Given the description of an element on the screen output the (x, y) to click on. 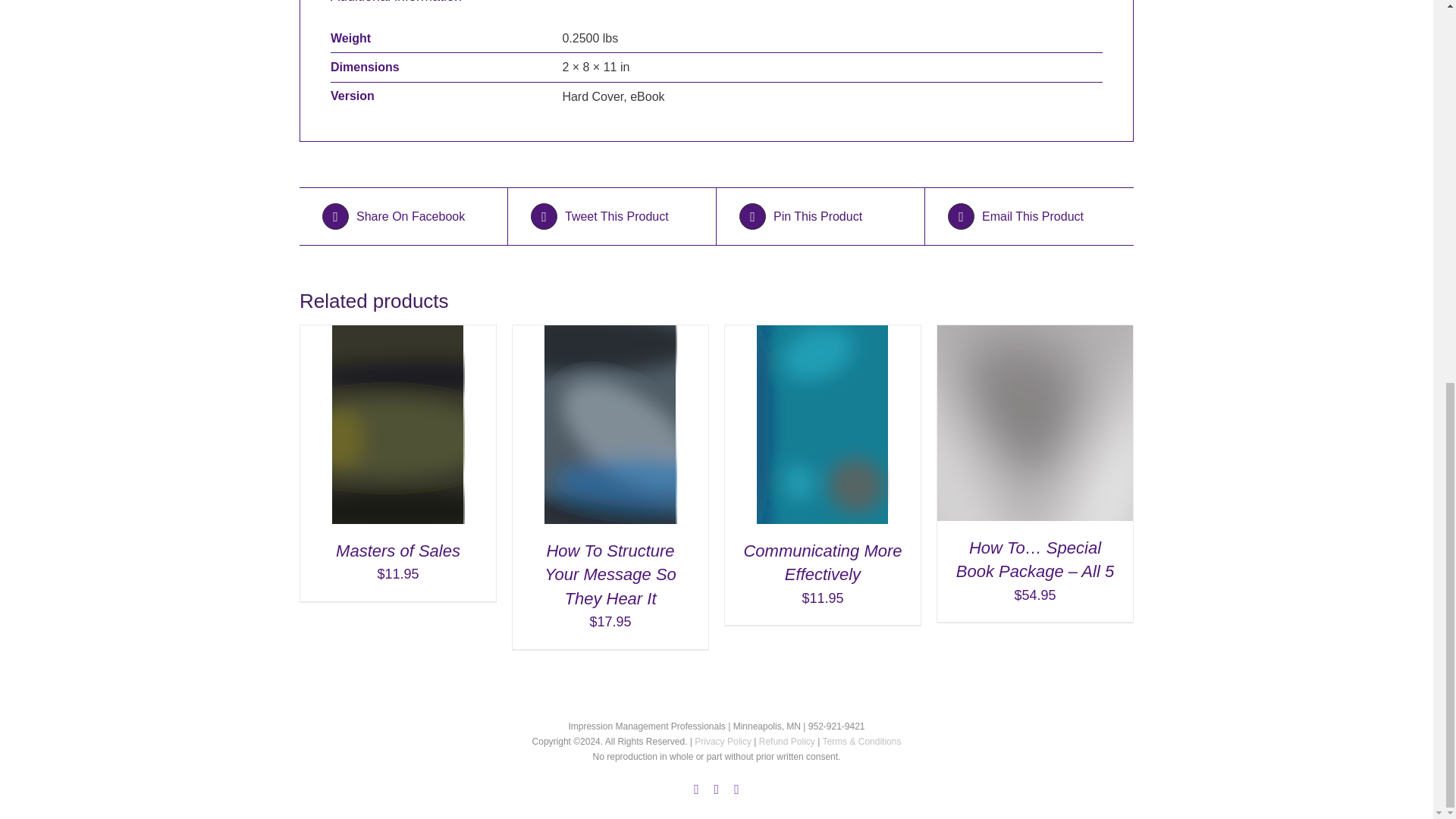
Tweet This Product (612, 216)
Masters of Sales (398, 550)
Email This Product (1028, 216)
Share On Facebook (402, 216)
Pin This Product (820, 216)
How To Structure Your Message So They Hear It (610, 574)
